Given the description of an element on the screen output the (x, y) to click on. 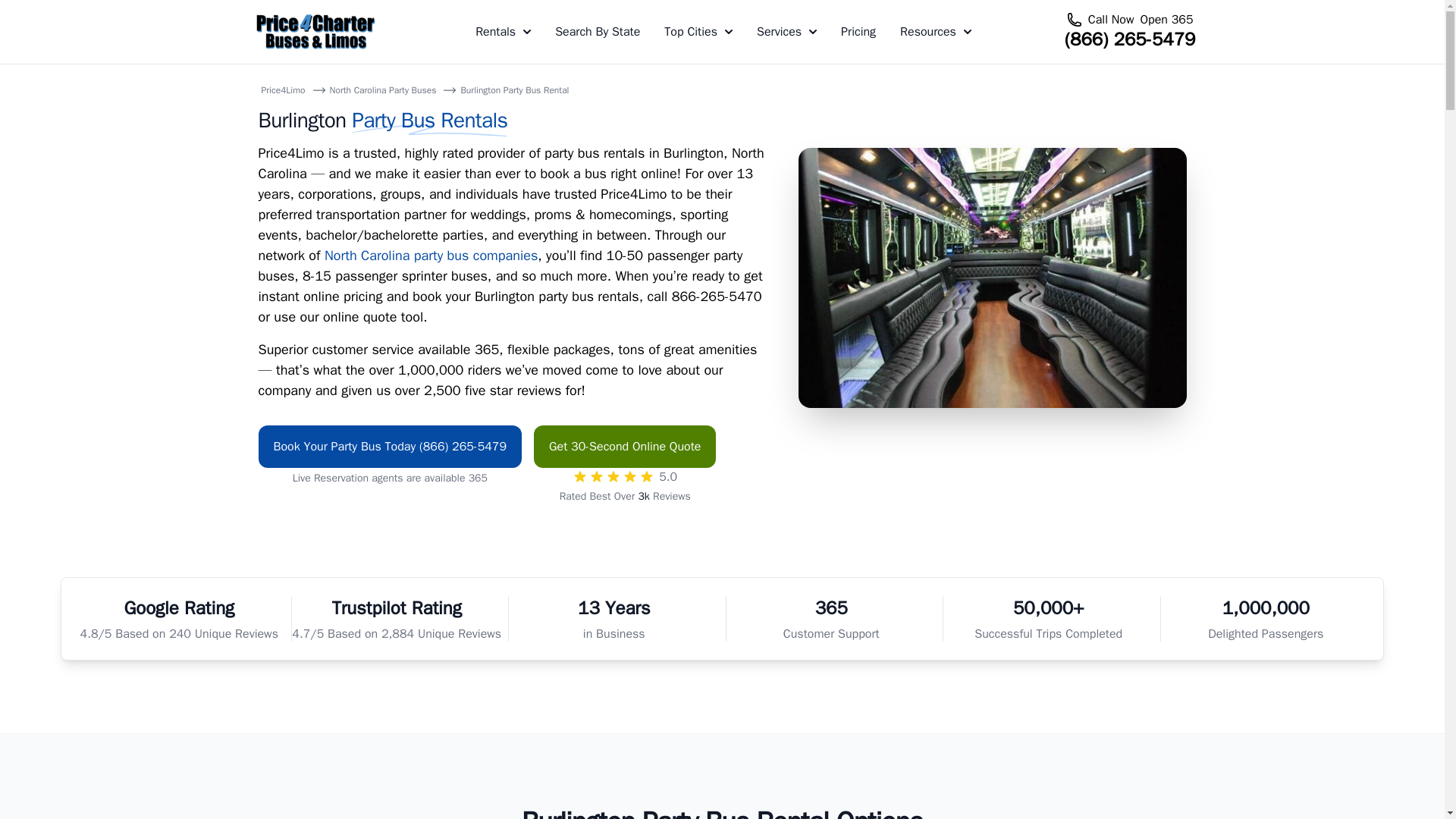
Rentals (503, 31)
Resources (935, 31)
Pricing (858, 31)
Call Now (1110, 19)
Search By State (597, 31)
Services (786, 31)
Open 365 (1166, 19)
Top Cities (697, 31)
